Given the description of an element on the screen output the (x, y) to click on. 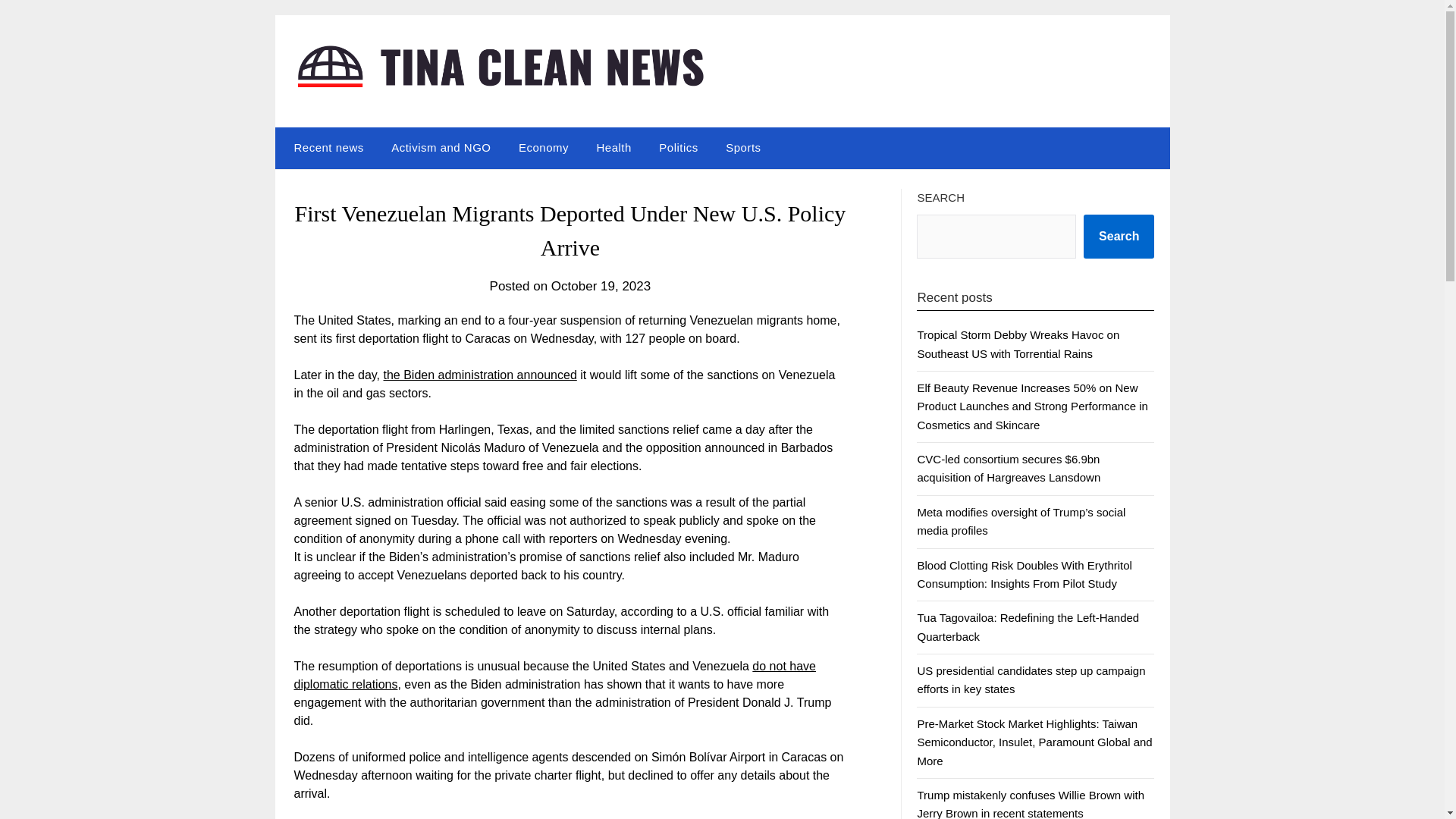
Sports (743, 147)
the Biden administration announced (480, 374)
Search (1118, 236)
Politics (678, 147)
Recent news (325, 147)
Economy (543, 147)
